Given the description of an element on the screen output the (x, y) to click on. 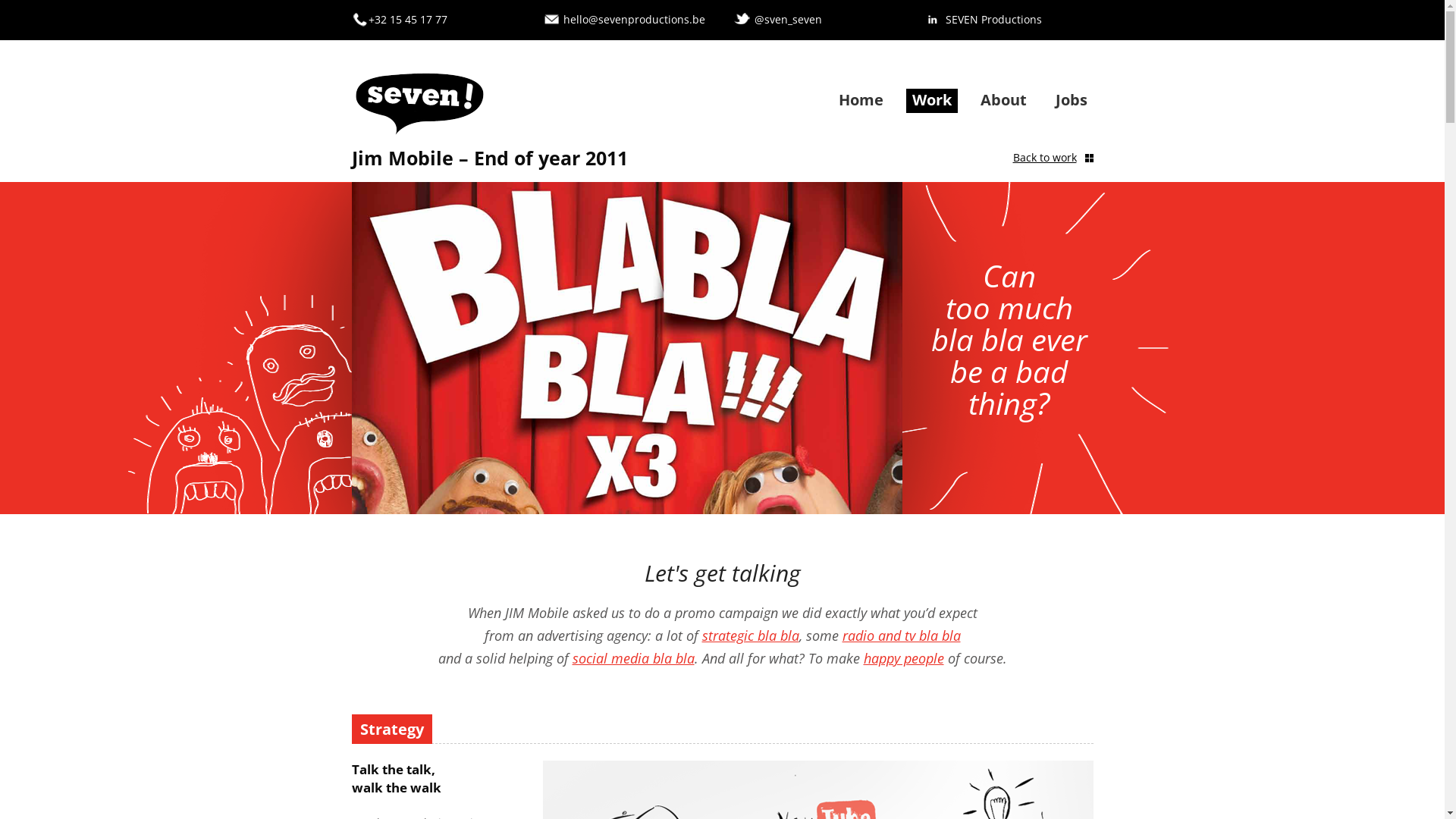
happy people Element type: text (902, 658)
SEVEN Productions Element type: text (992, 19)
hello@sevenproductions.be Element type: text (633, 19)
Home Element type: text (860, 99)
Work Element type: text (930, 99)
strategic bla bla Element type: text (750, 635)
About Element type: text (1002, 99)
Back to work Element type: text (1053, 157)
@sven_seven Element type: text (787, 19)
social media bla bla Element type: text (632, 658)
Jobs Element type: text (1071, 99)
radio and tv bla bla Element type: text (900, 635)
